Given the description of an element on the screen output the (x, y) to click on. 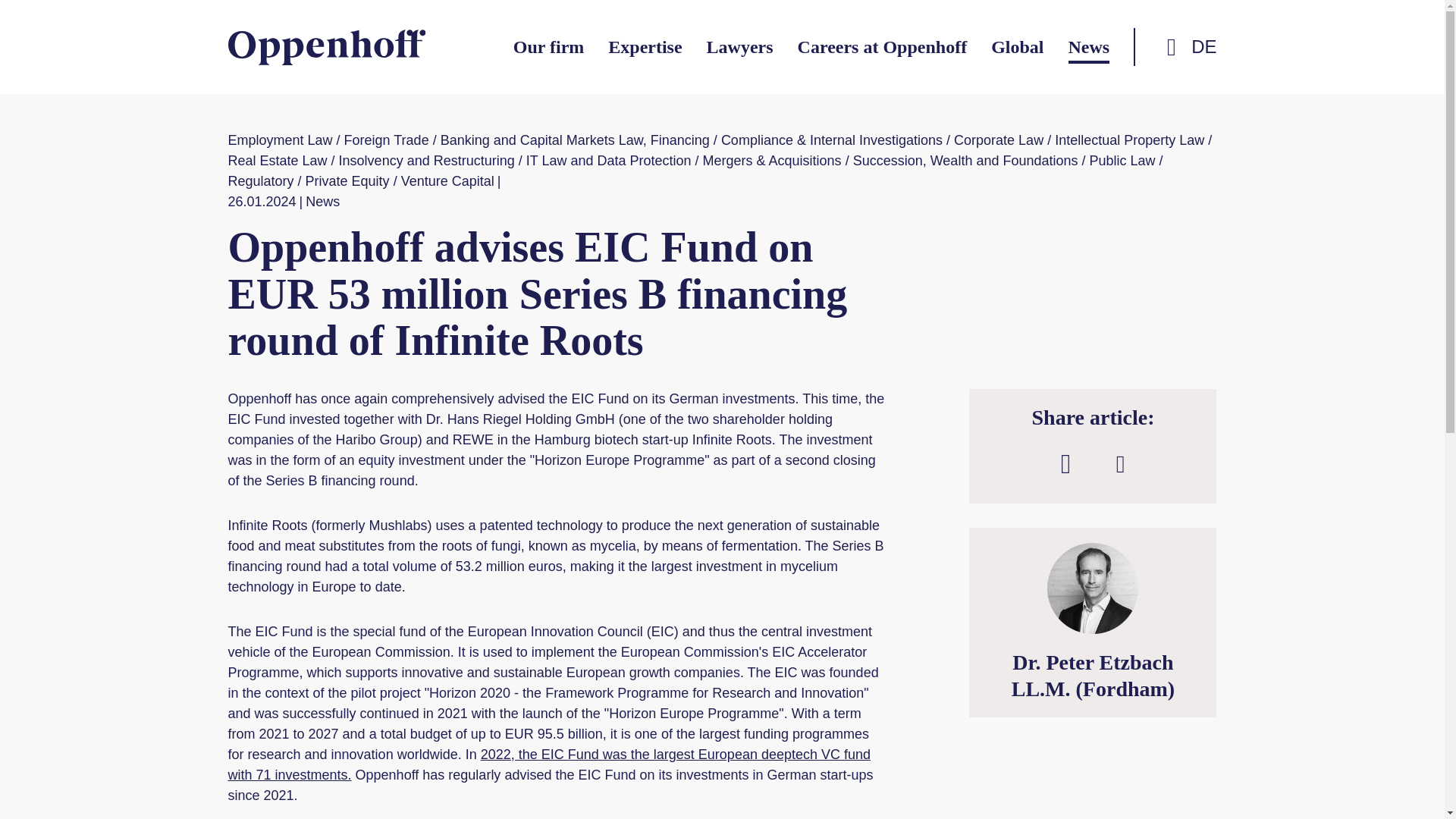
Our firm (549, 46)
Expertise (644, 46)
Our firm (549, 46)
Expertise (644, 46)
Oppenhoff (326, 46)
